Given the description of an element on the screen output the (x, y) to click on. 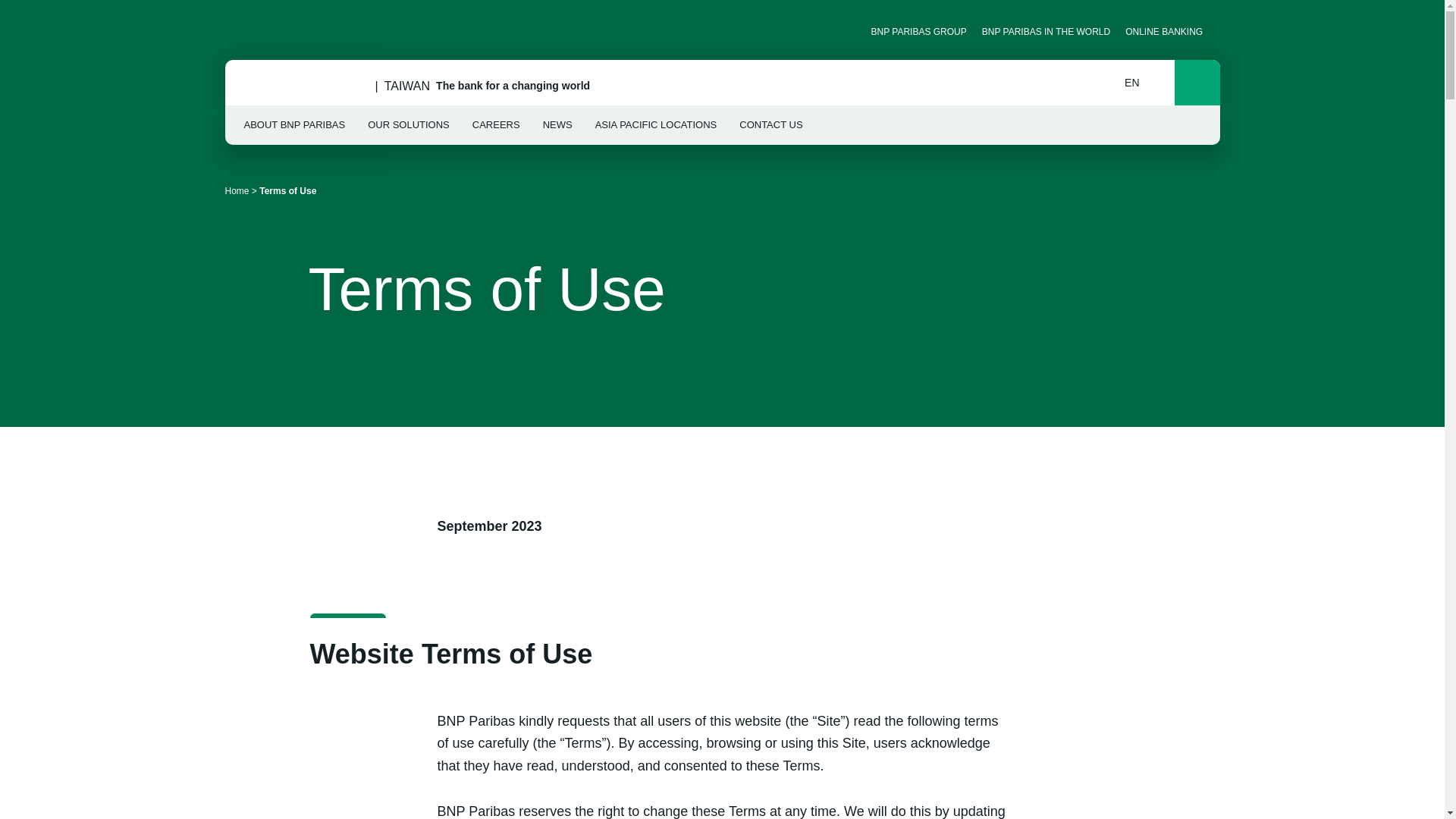
ONLINE BANKING (1169, 31)
Search (1196, 82)
OUR SOLUTIONS (408, 124)
BNP PARIBAS GROUP (918, 31)
Linkedin - New window (237, 31)
ABOUT BNP PARIBAS (295, 124)
LINKEDIN (237, 31)
X - New window (263, 31)
CAREERS (495, 124)
X (263, 31)
BNP PARIBAS IN THE WORLD (1046, 31)
BNP Paribas (306, 86)
